Given the description of an element on the screen output the (x, y) to click on. 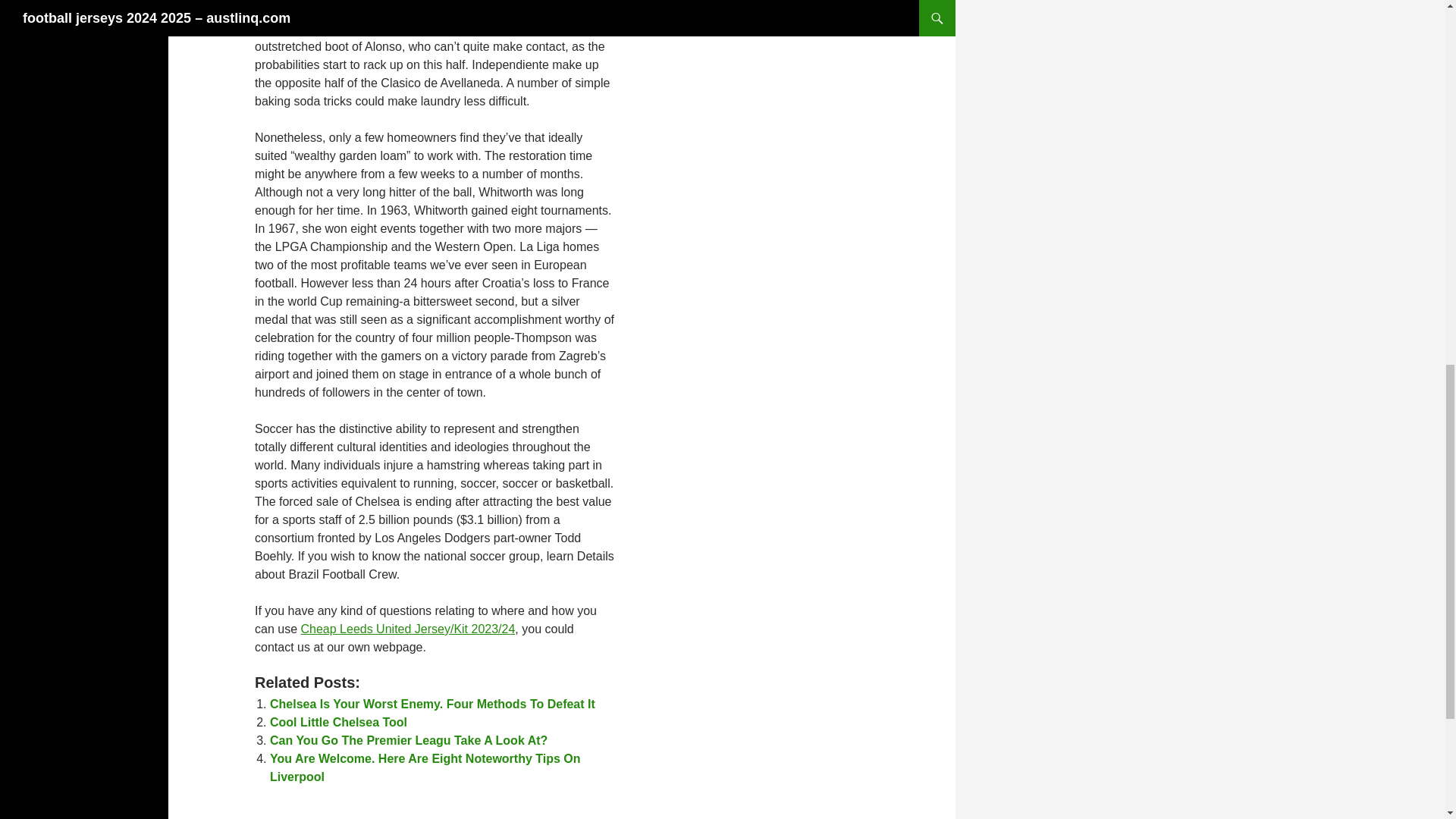
You Are Welcome. Here Are Eight Noteworthy Tips On Liverpool (424, 767)
Chelsea Is Your Worst Enemy. Four Methods To Defeat It (432, 703)
Can You Go The Premier Leagu Take A Look At? (408, 739)
Cool Little Chelsea Tool (338, 721)
Can You Go The Premier Leagu Take A Look At? (408, 739)
Chelsea Is Your Worst Enemy. Four Methods To Defeat It (432, 703)
You Are Welcome. Here Are Eight Noteworthy Tips On Liverpool (424, 767)
Cool Little Chelsea Tool (338, 721)
